Given the description of an element on the screen output the (x, y) to click on. 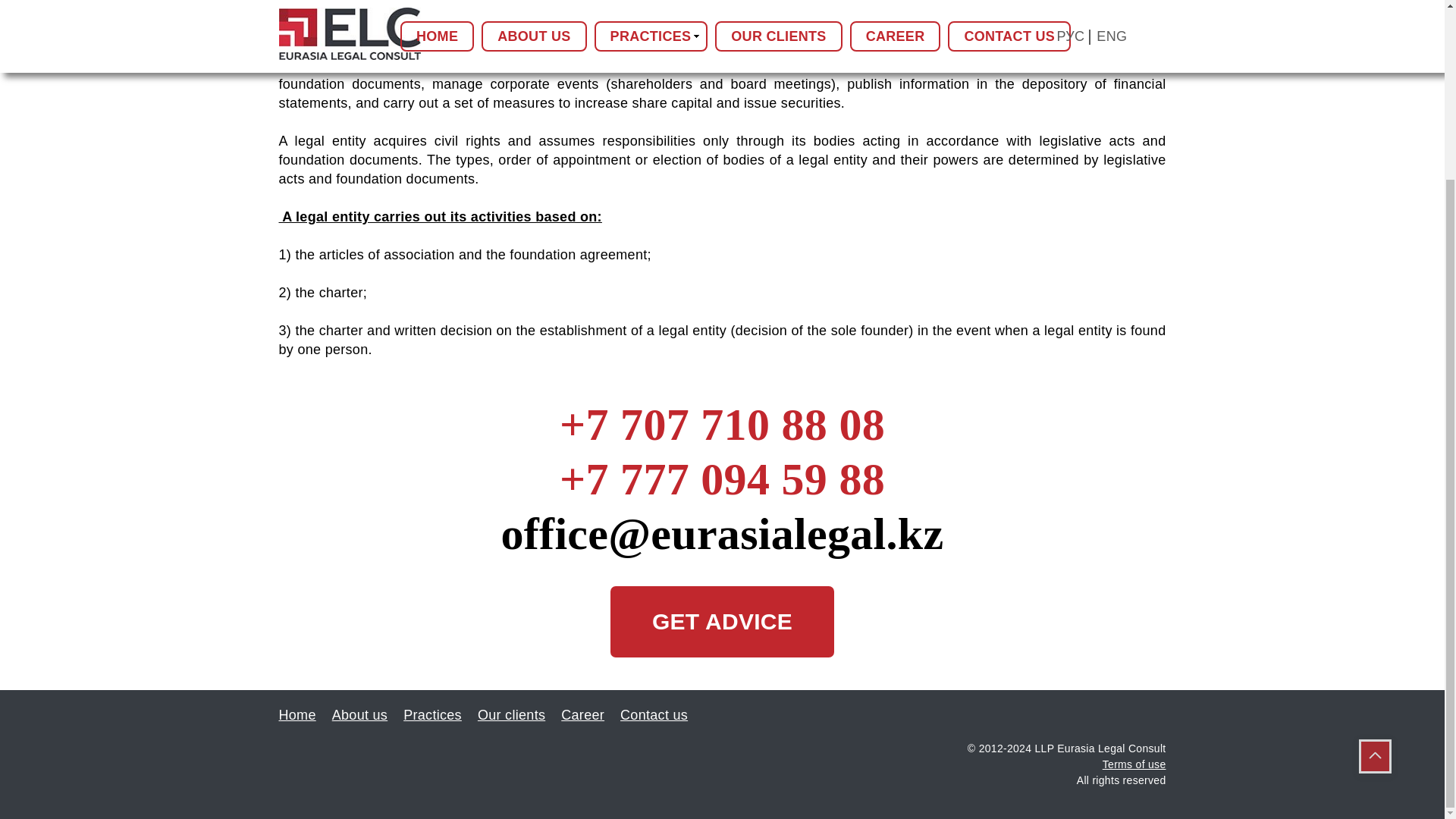
Practices (438, 715)
Terms of use (1134, 764)
Home (304, 715)
GET ADVICE (721, 621)
Our clients (517, 715)
Contact us (660, 715)
Career (587, 715)
About us (364, 715)
